Given the description of an element on the screen output the (x, y) to click on. 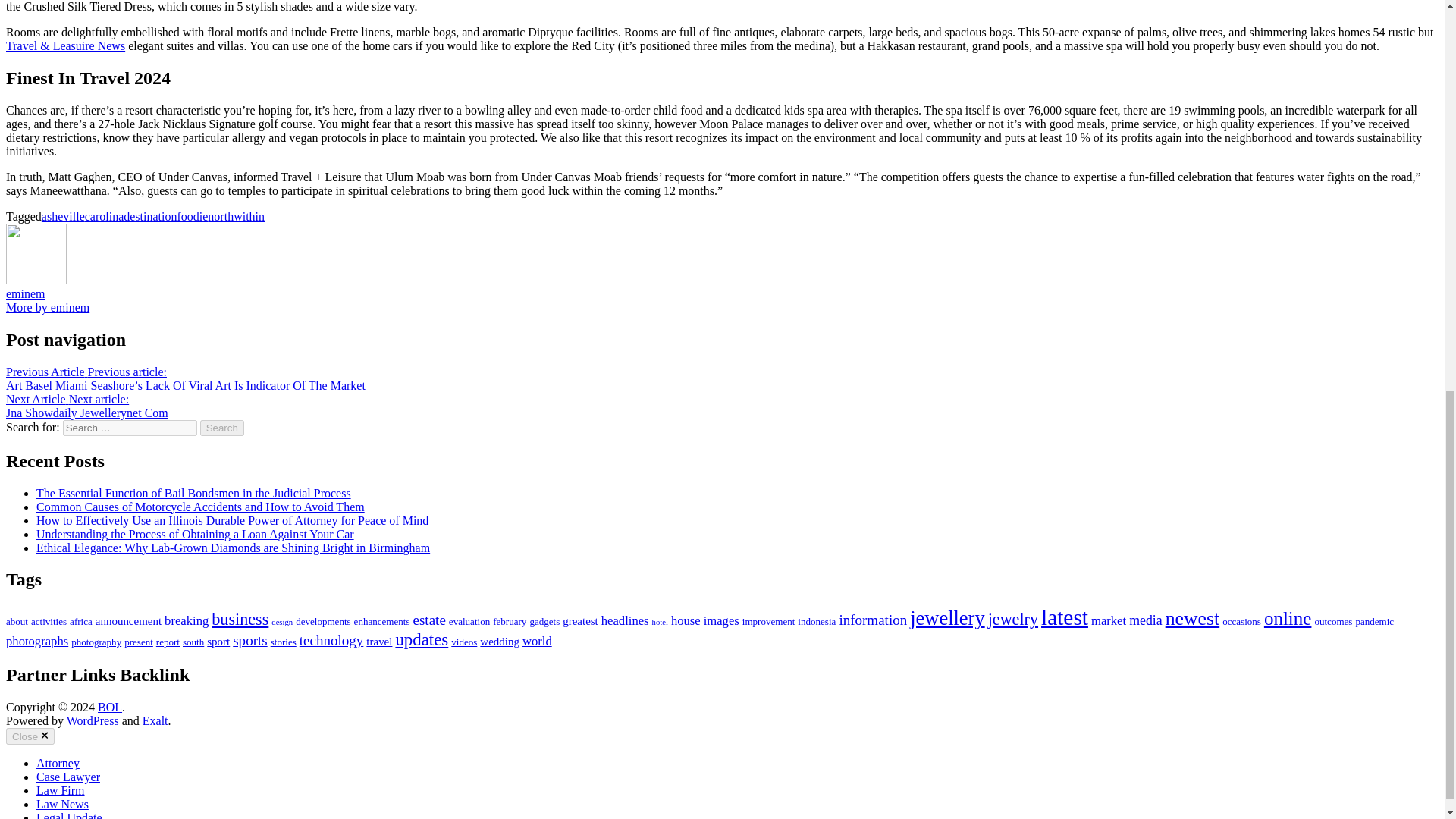
foodie (192, 215)
Search (222, 427)
enhancements (381, 621)
asheville (63, 215)
eminem (25, 293)
breaking (186, 620)
Search (222, 427)
business (239, 618)
